Given the description of an element on the screen output the (x, y) to click on. 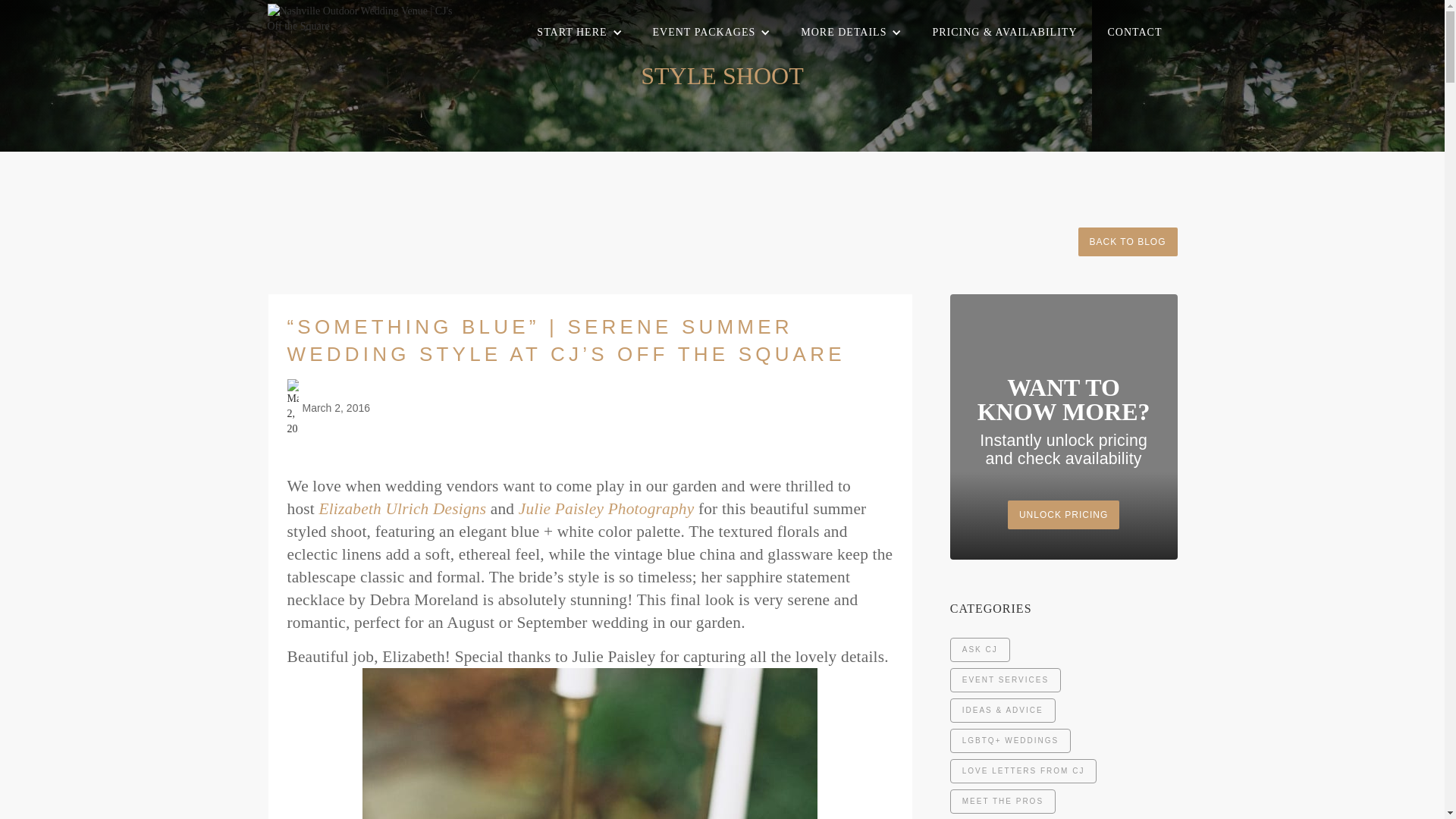
BACK TO BLOG (1127, 241)
Julie Paisley Photography (606, 508)
Elizabeth Ulrich Designs (402, 508)
CONTACT (1134, 32)
